Given the description of an element on the screen output the (x, y) to click on. 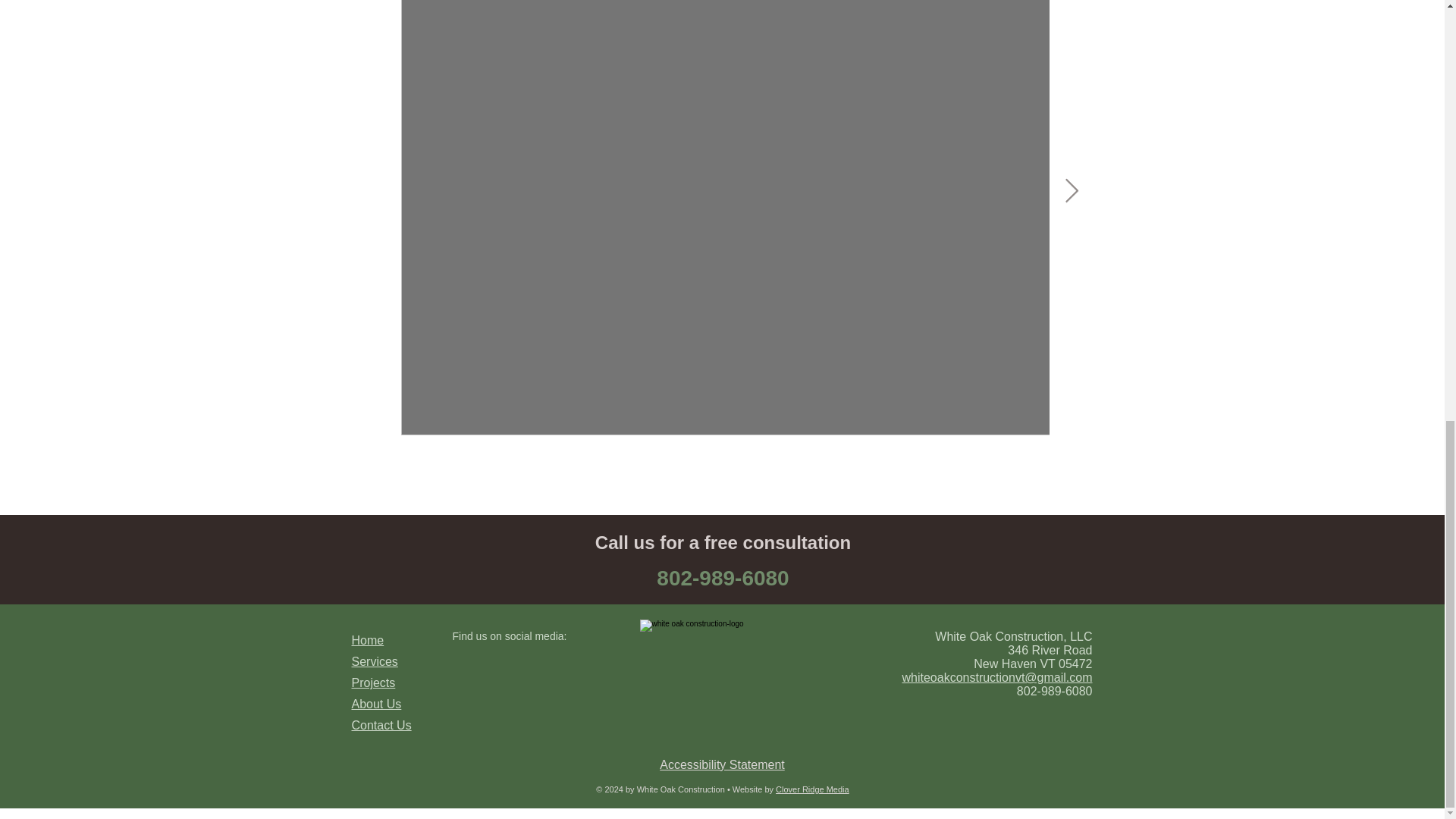
Services (374, 661)
Clover Ridge Media (812, 788)
Projects (374, 682)
Home (368, 640)
Contact Us (382, 725)
Accessibility Statement (721, 764)
802-989-6080 (722, 577)
About Us (376, 703)
